Given the description of an element on the screen output the (x, y) to click on. 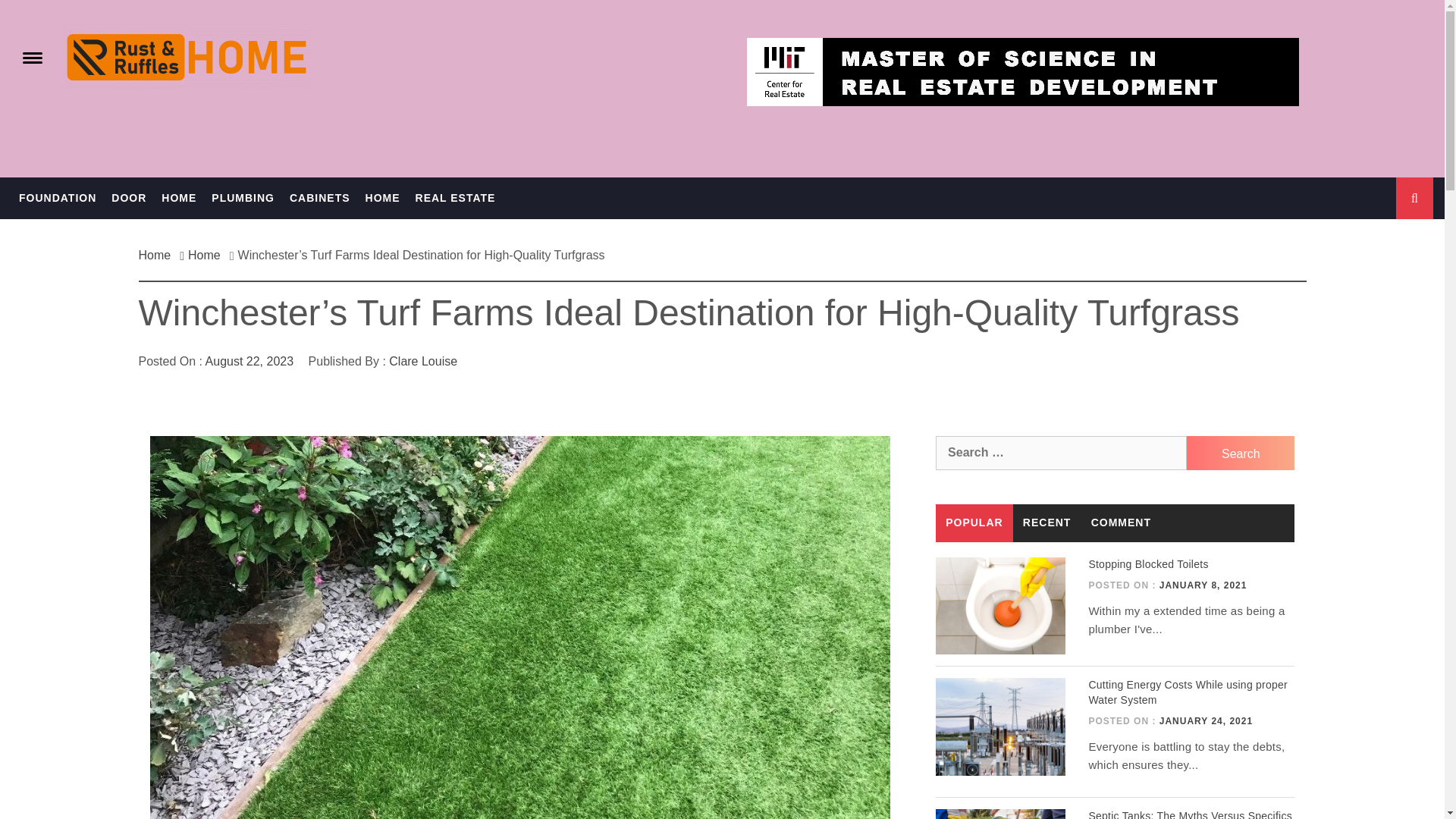
CABINETS (320, 198)
COMMENT (1121, 523)
PLUMBING (242, 198)
DOOR (128, 198)
JANUARY 24, 2021 (1205, 720)
FOUNDATION (57, 198)
HOME (382, 198)
Search (1240, 452)
Search (797, 37)
REAL ESTATE (455, 198)
